Given the description of an element on the screen output the (x, y) to click on. 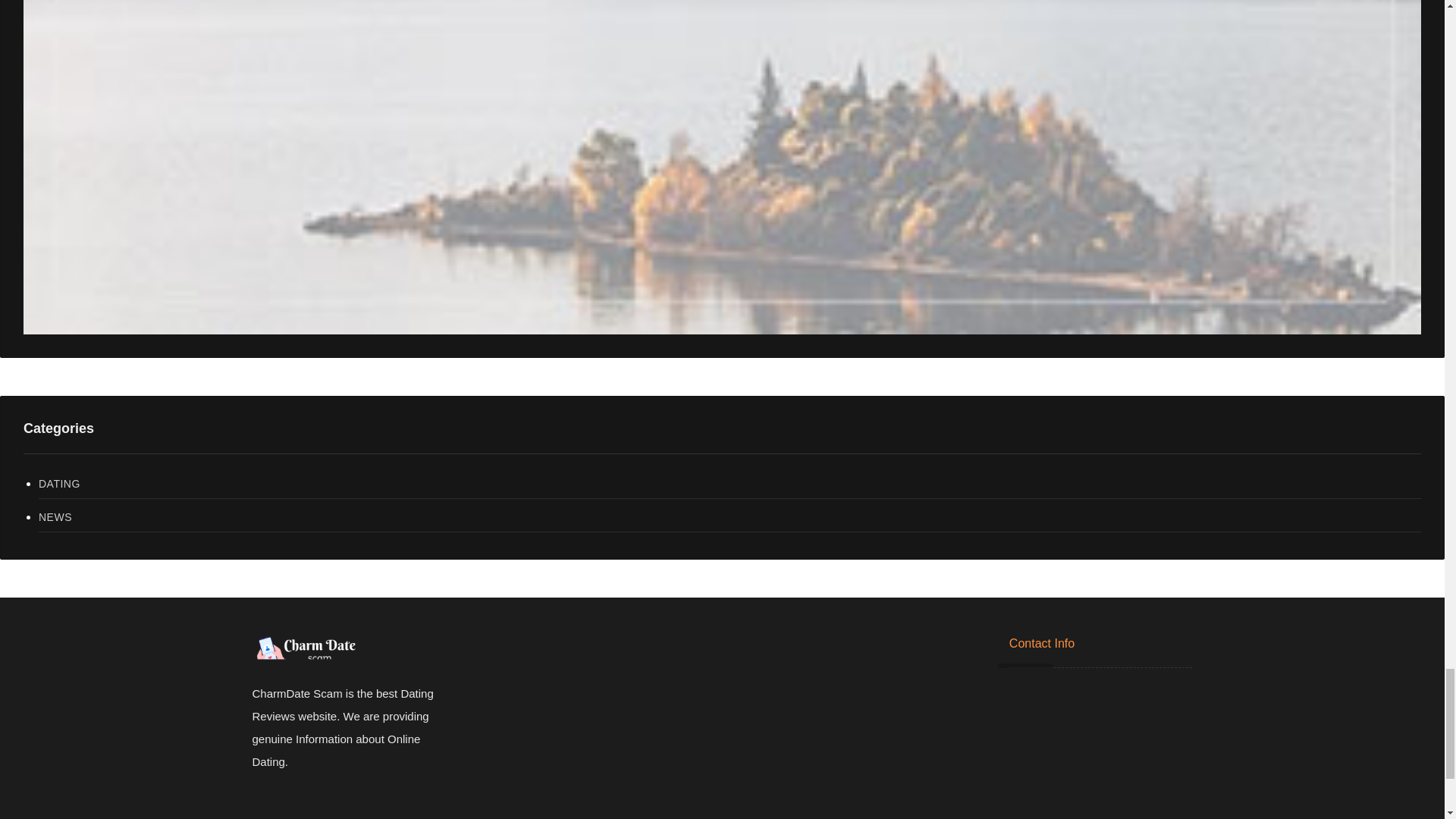
DATING (730, 483)
NEWS (730, 517)
